Given the description of an element on the screen output the (x, y) to click on. 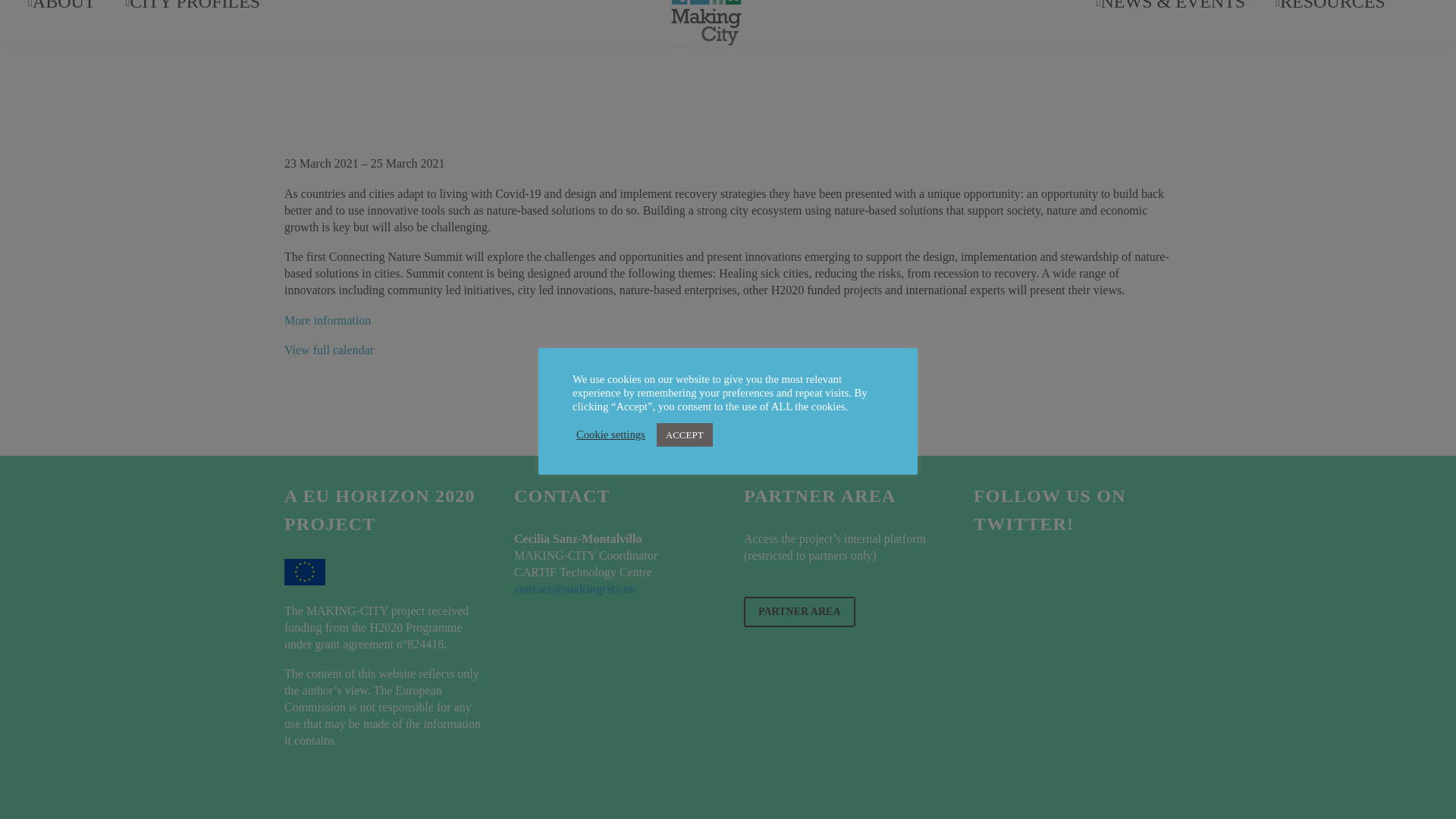
ABOUT (61, 22)
PARTNER AREA (800, 612)
More information (327, 319)
View full calendar (328, 349)
Resources (1330, 22)
CITY PROFILES (193, 22)
Partner area (800, 612)
RESOURCES (1330, 22)
